Given the description of an element on the screen output the (x, y) to click on. 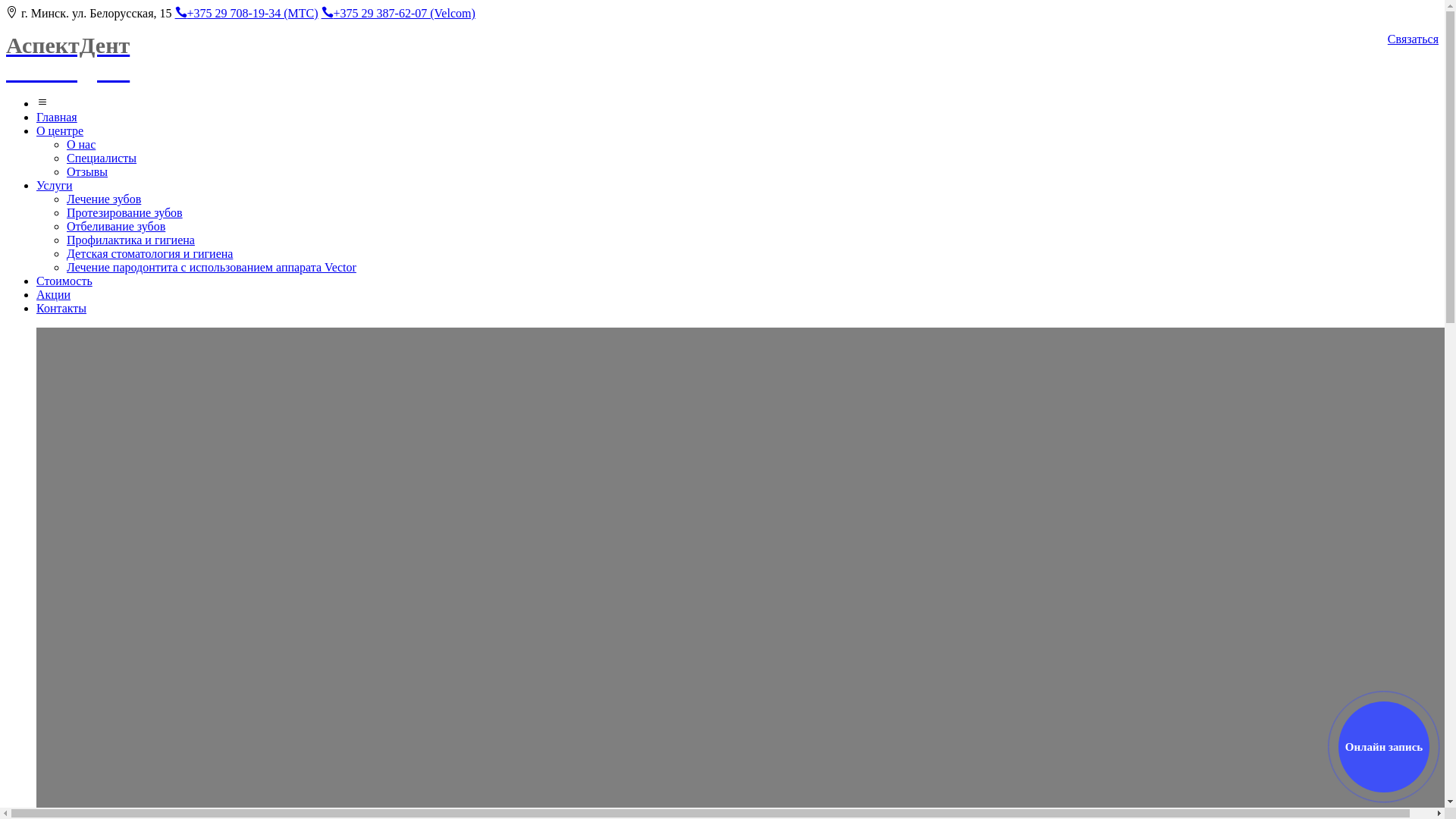
+375 29 387-62-07 (Velcom) Element type: text (398, 12)
